Given the description of an element on the screen output the (x, y) to click on. 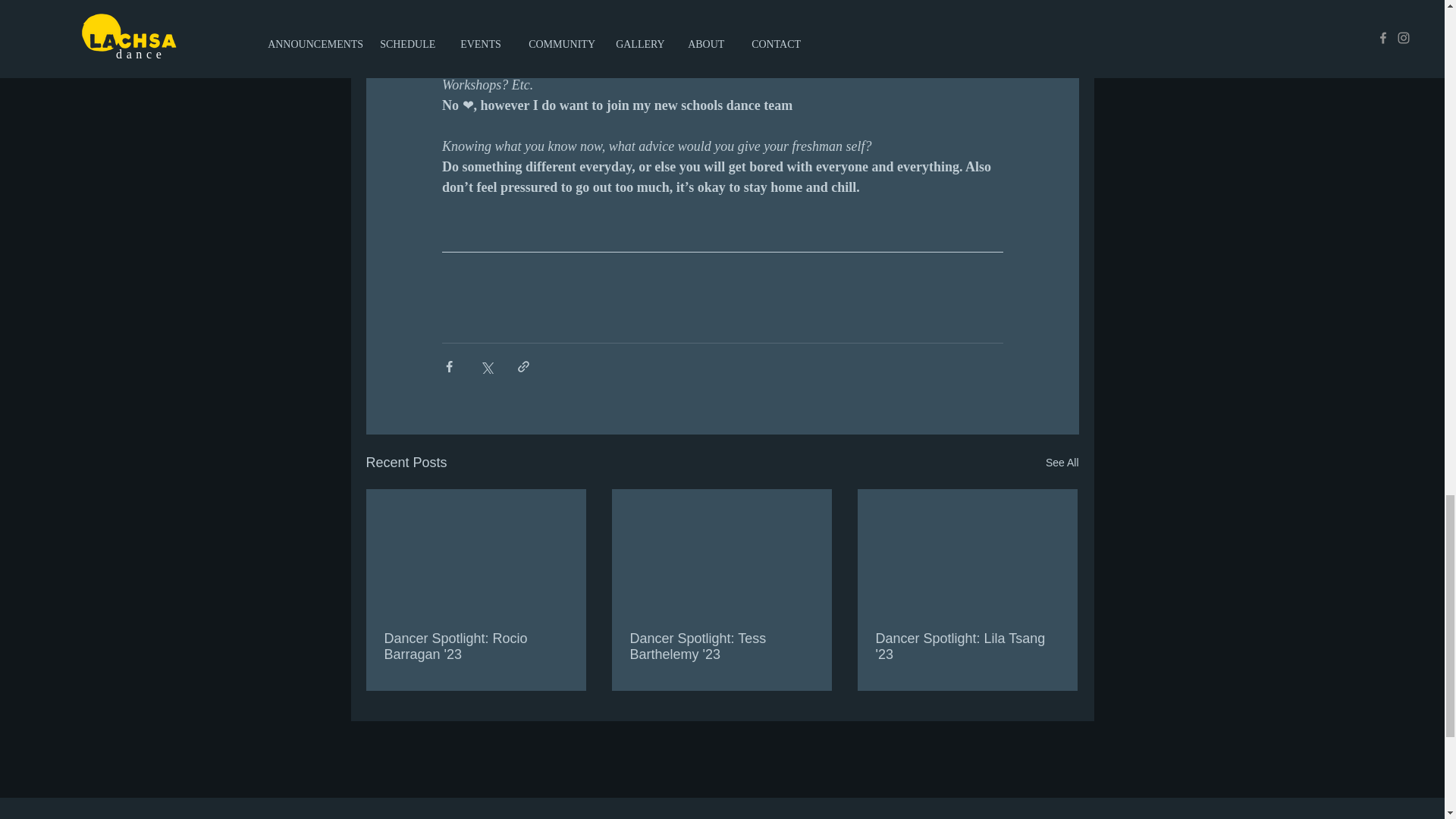
Dancer Spotlight: Rocio Barragan '23 (475, 646)
See All (1061, 463)
